Given the description of an element on the screen output the (x, y) to click on. 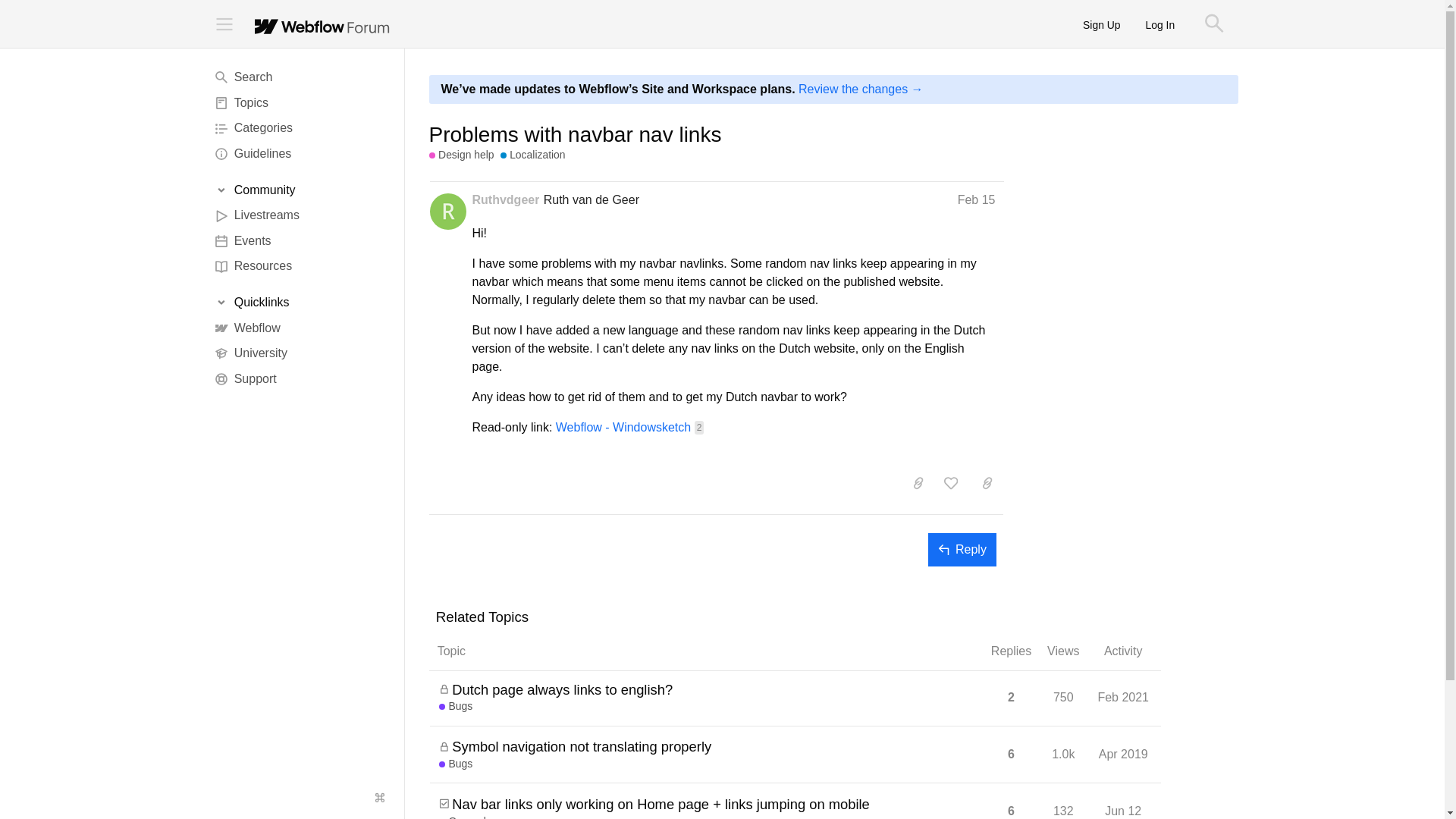
Webflow (301, 328)
Reply (961, 549)
Problems with navbar nav links (575, 134)
Sidebar (224, 23)
Log In (1160, 24)
Post date (976, 199)
share a link to this post (987, 482)
University (301, 353)
Topics (301, 103)
Toggle section (301, 190)
